Given the description of an element on the screen output the (x, y) to click on. 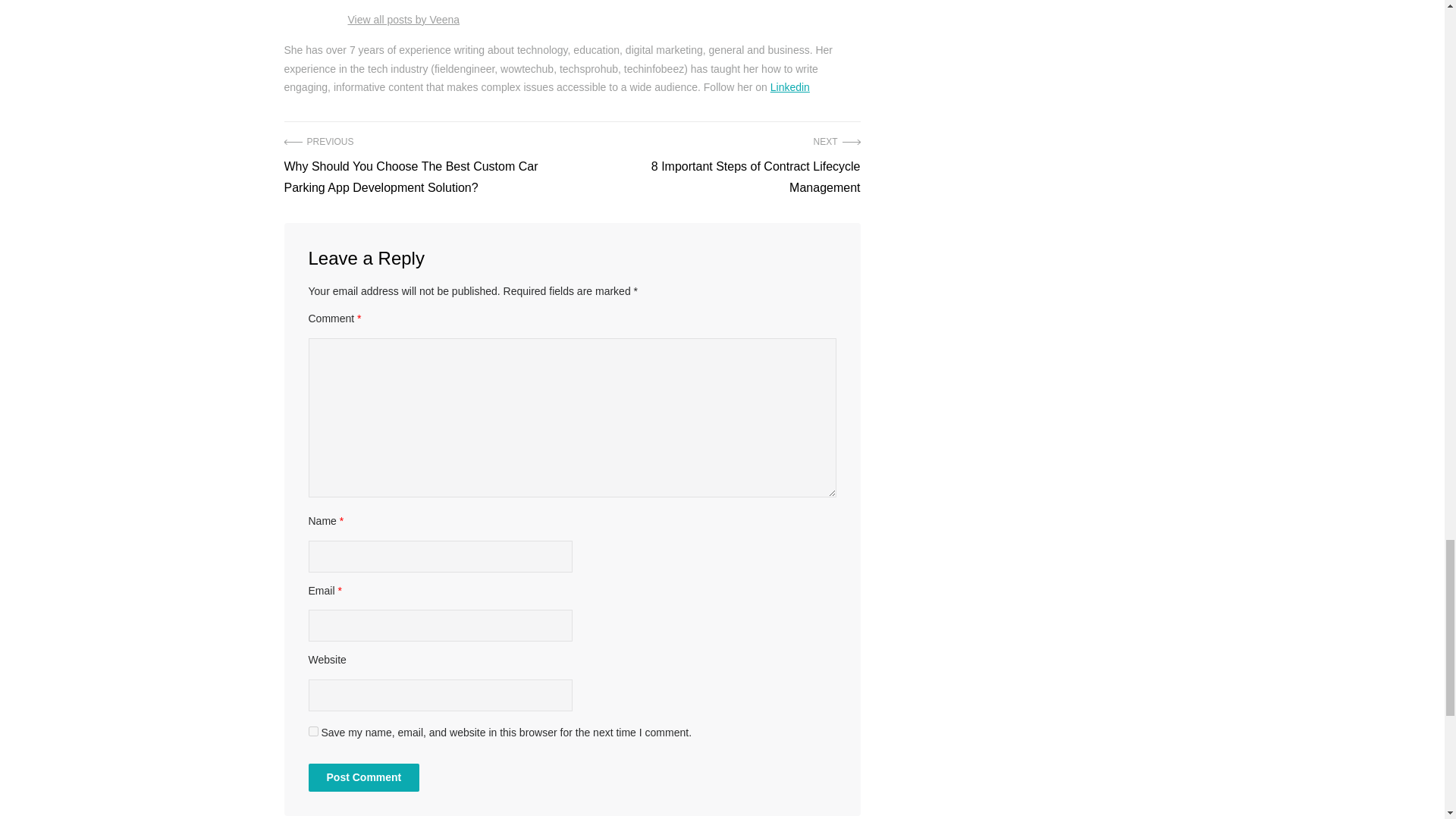
Post Comment (363, 777)
Linkedin (789, 87)
View all posts by Veena (403, 19)
yes (312, 731)
